Given the description of an element on the screen output the (x, y) to click on. 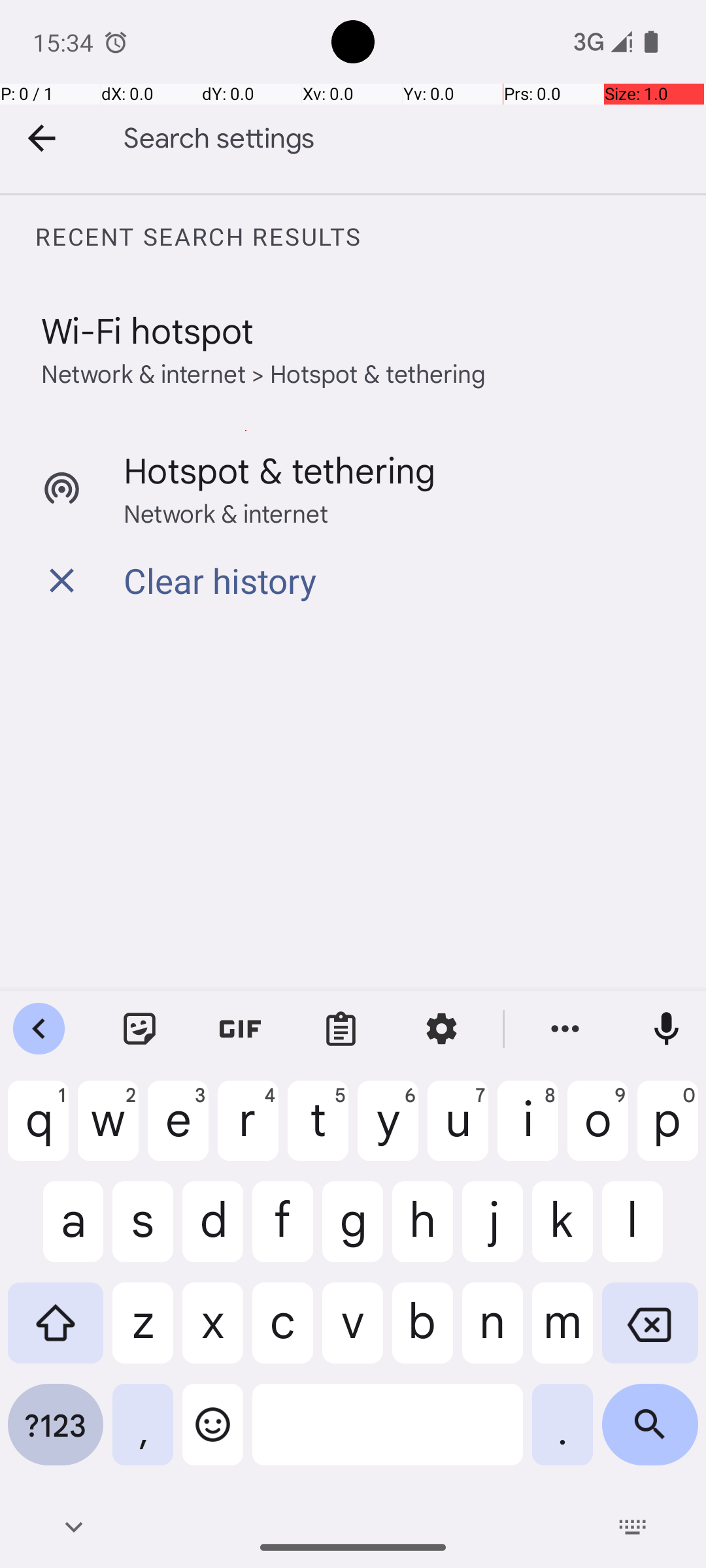
RECENT SEARCH RESULTS Element type: android.widget.TextView (370, 236)
Wi-Fi hotspot Element type: android.widget.TextView (147, 329)
Network & internet > Hotspot & tethering Element type: android.widget.TextView (263, 372)
Clear history Element type: android.widget.TextView (219, 580)
